Given the description of an element on the screen output the (x, y) to click on. 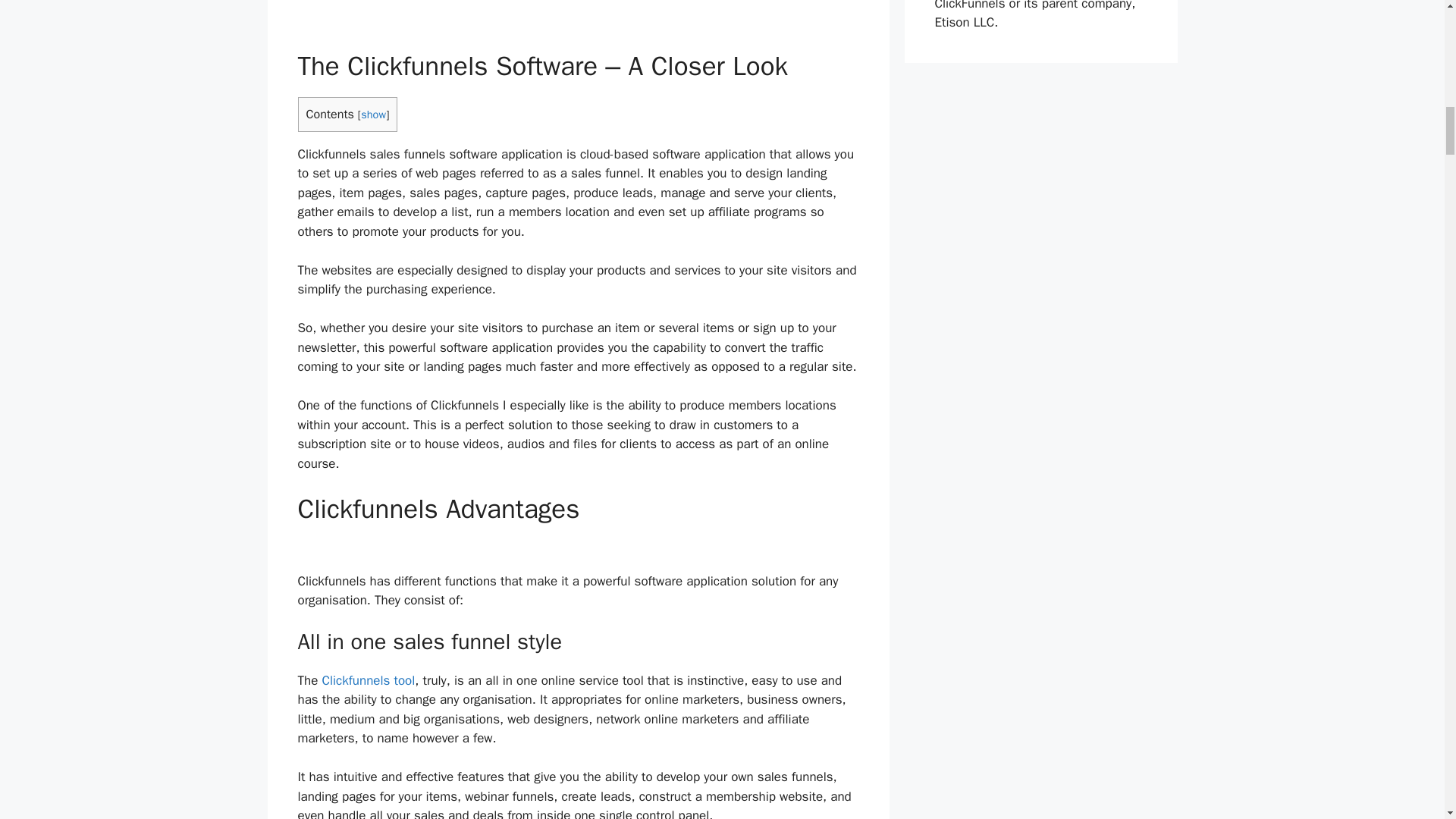
show (373, 114)
Clickfunnels tool (367, 680)
